Given the description of an element on the screen output the (x, y) to click on. 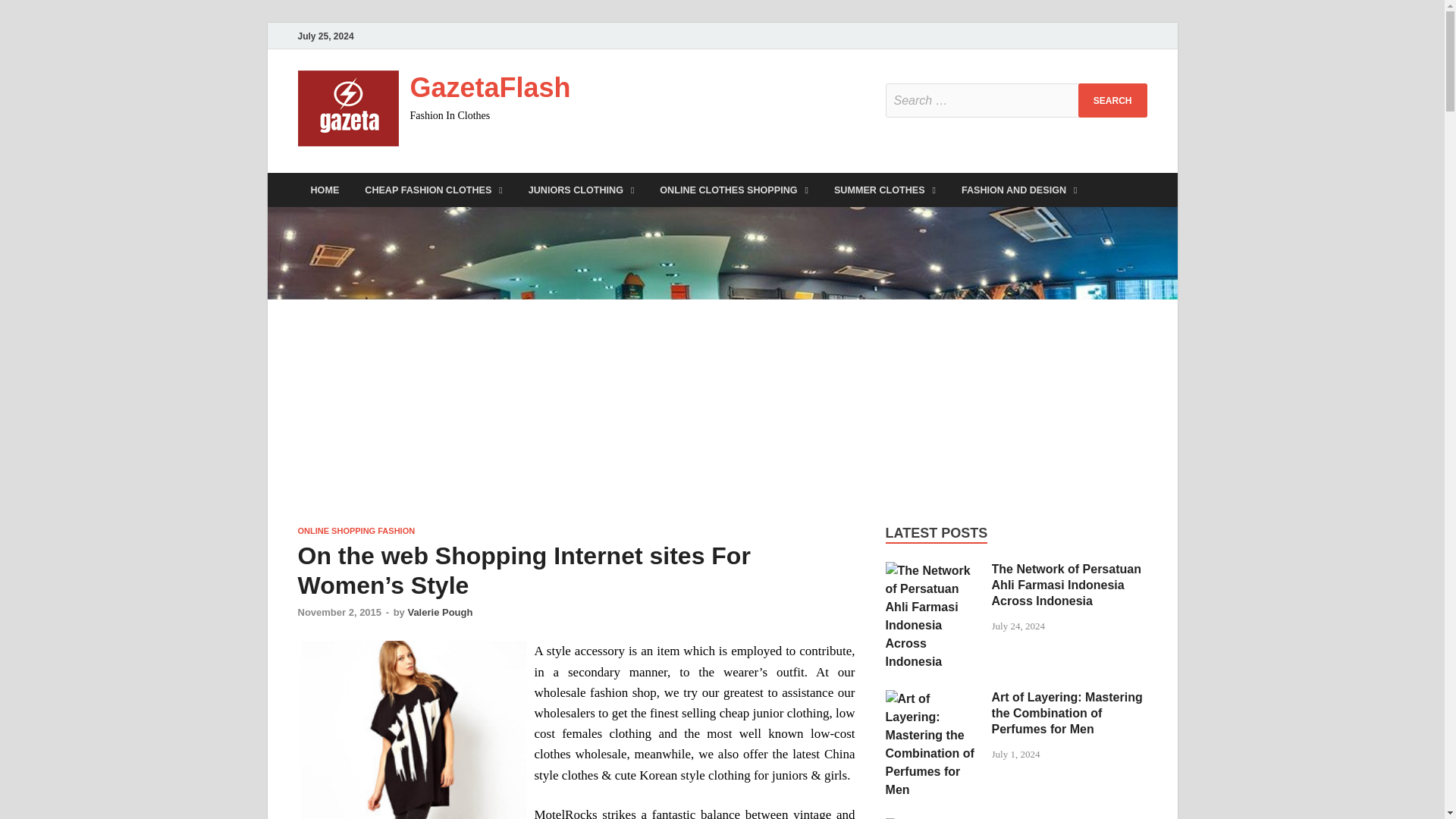
GazetaFlash (489, 87)
Search (1112, 100)
ONLINE SHOPPING FASHION (355, 530)
November 2, 2015 (339, 612)
HOME (324, 189)
SUMMER CLOTHES (885, 189)
ONLINE CLOTHES SHOPPING (733, 189)
Search (1112, 100)
FASHION AND DESIGN (1019, 189)
JUNIORS CLOTHING (581, 189)
Valerie Pough (439, 612)
Search (1112, 100)
CHEAP FASHION CLOTHES (433, 189)
